Given the description of an element on the screen output the (x, y) to click on. 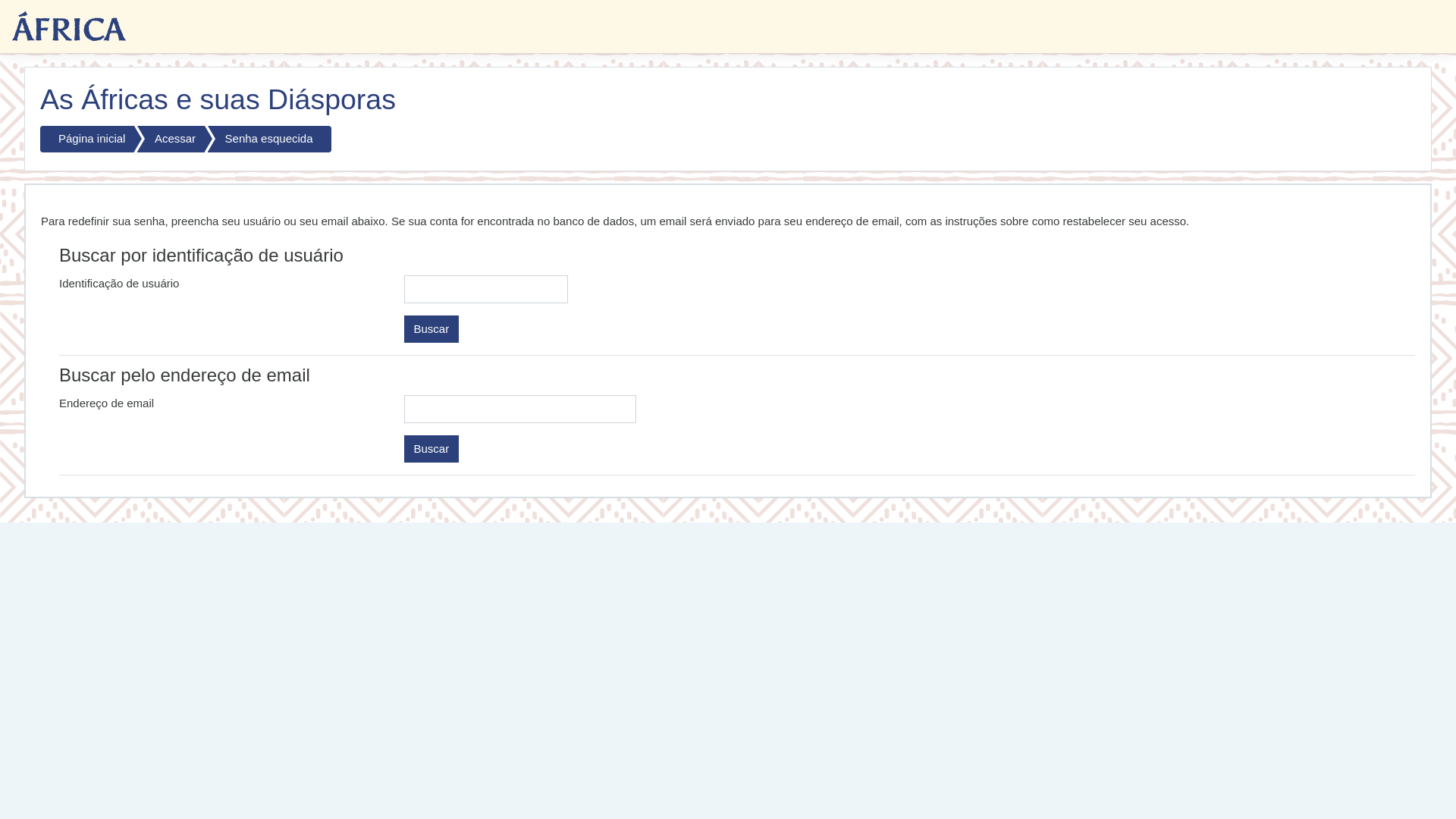
Buscar Element type: text (430, 329)
Buscar Element type: text (430, 449)
Acessar Element type: text (170, 138)
